Given the description of an element on the screen output the (x, y) to click on. 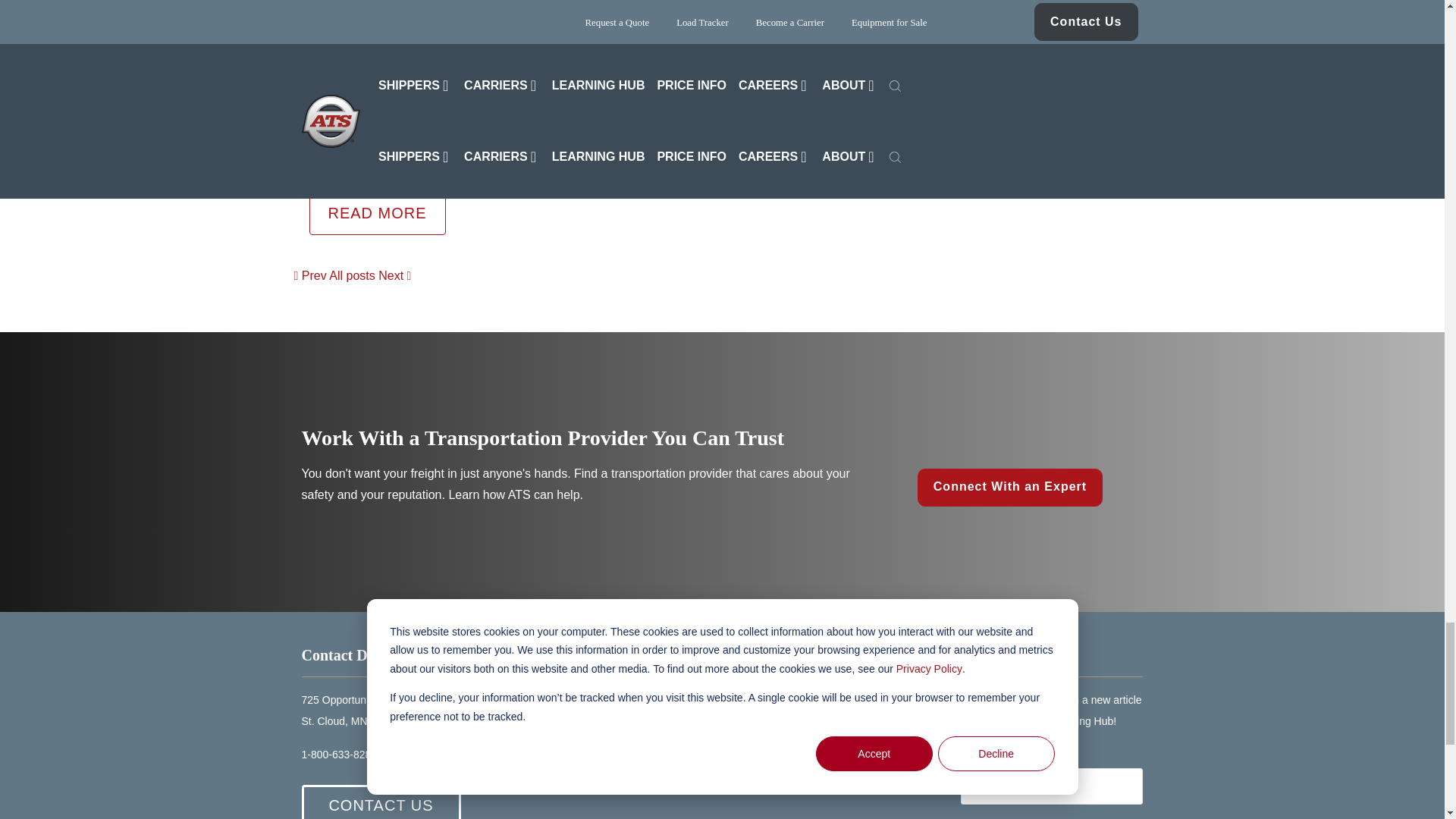
Contact Us (381, 801)
Connect With an Expert (1009, 487)
